Given the description of an element on the screen output the (x, y) to click on. 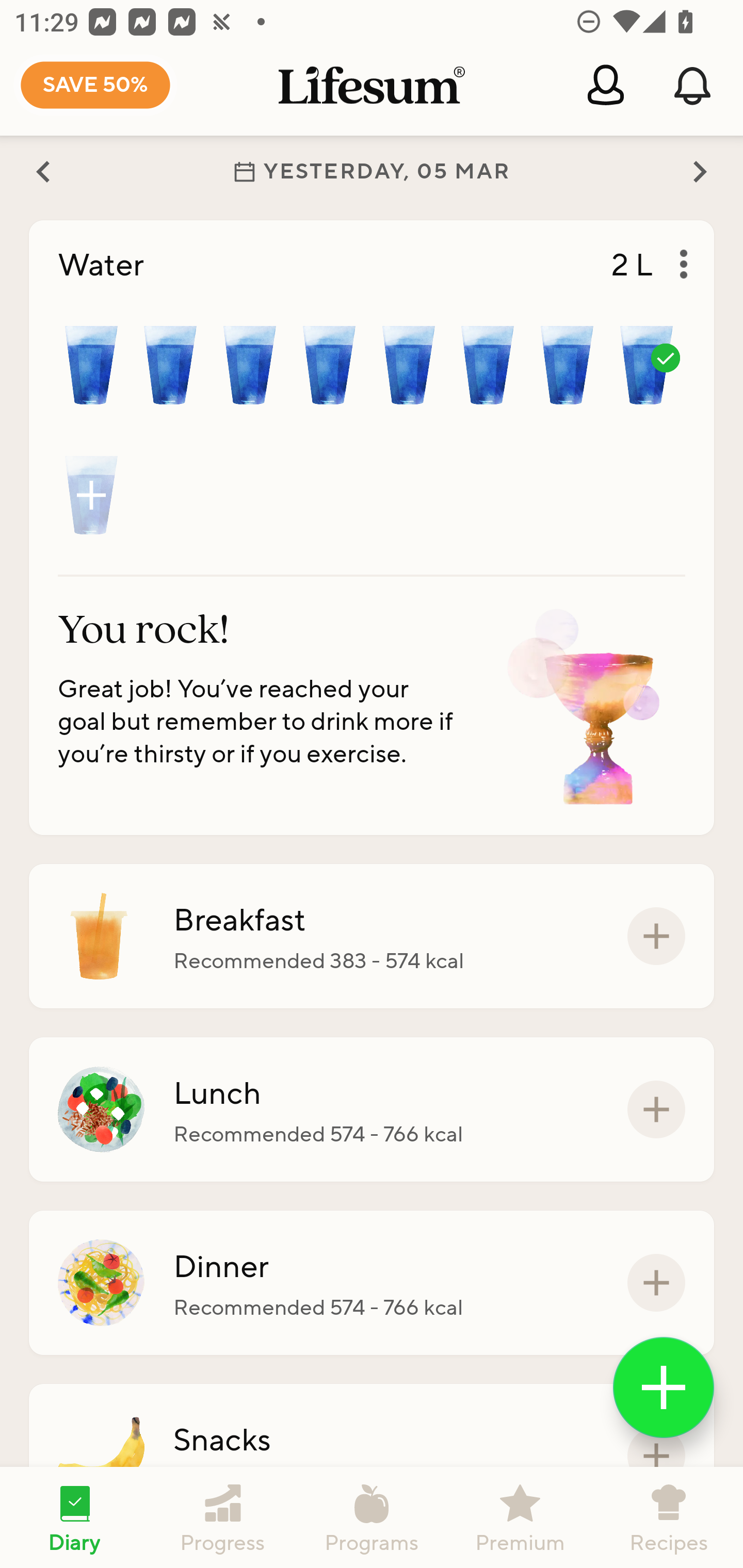
YESTERDAY, 05 MAR (371, 171)
Breakfast Recommended 383 - 574 kcal (371, 935)
Lunch Recommended 574 - 766 kcal (371, 1110)
Dinner Recommended 574 - 766 kcal (371, 1282)
Snacks Recommended 96 - 191 kcal (371, 1454)
Progress (222, 1517)
Programs (371, 1517)
Premium (519, 1517)
Recipes (668, 1517)
